Given the description of an element on the screen output the (x, y) to click on. 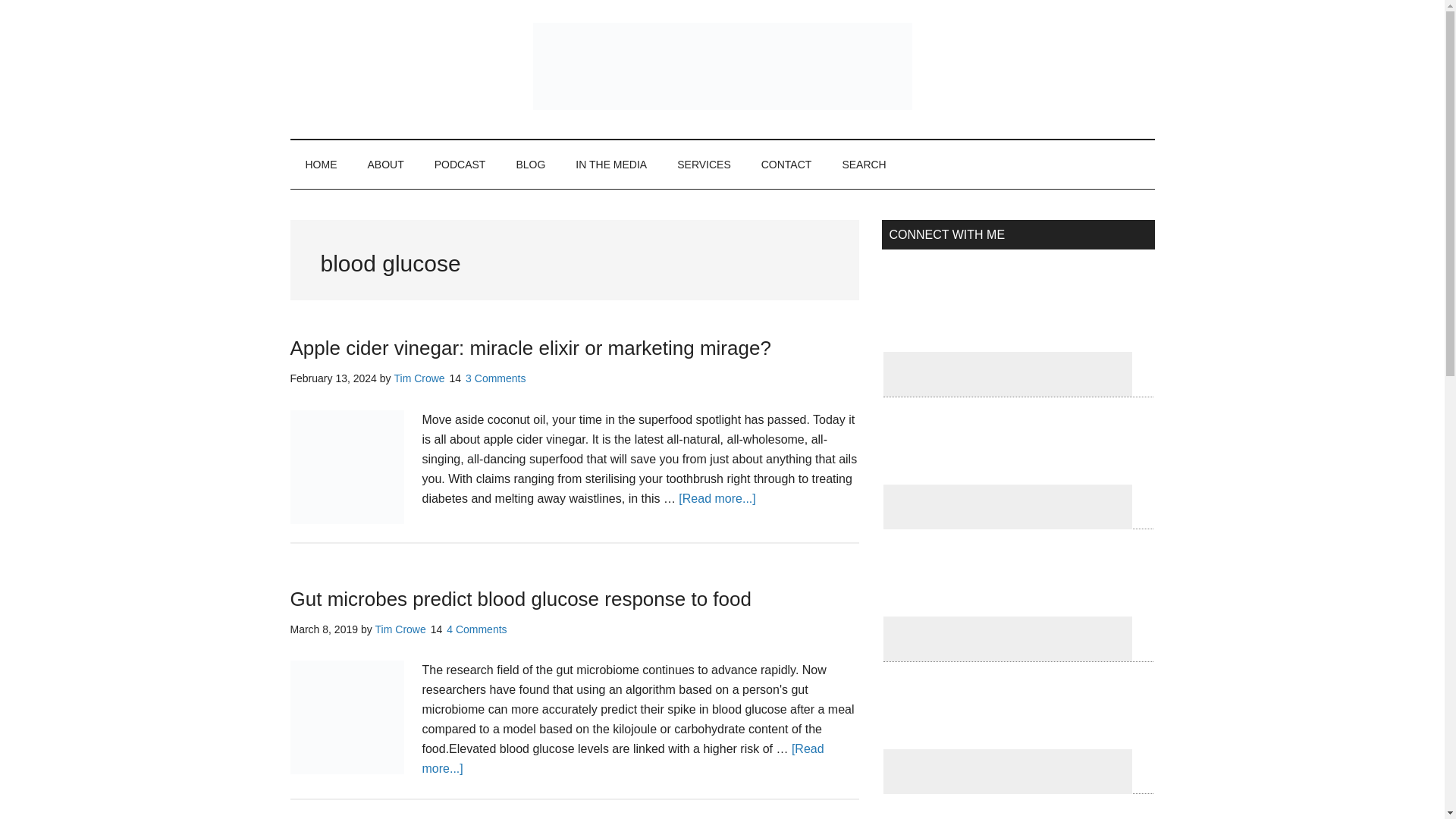
CONTACT (786, 164)
RSS (1007, 721)
Tim Crowe (400, 629)
IN THE MEDIA (611, 164)
SEARCH (864, 164)
Apple cider vinegar: miracle elixir or marketing mirage? (529, 347)
Tim Crowe (418, 378)
Instagram (1007, 457)
4 Comments (476, 629)
Facebook (1006, 374)
